Given the description of an element on the screen output the (x, y) to click on. 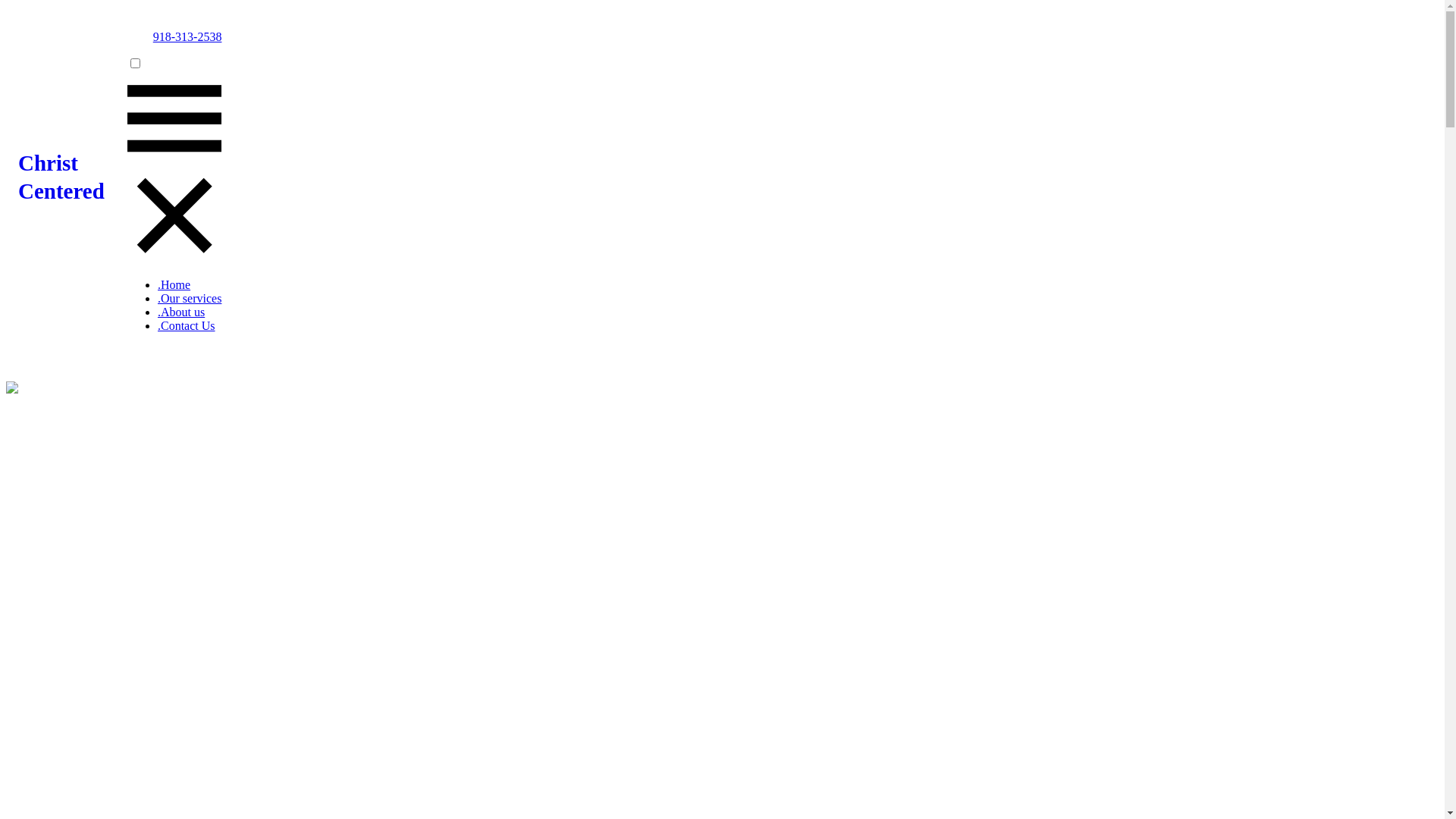
.Contact Us Element type: text (186, 325)
.About us Element type: text (180, 311)
.Home Element type: text (173, 284)
Christ
Centered Element type: text (72, 224)
.Our services Element type: text (189, 297)
918-313-2538 Element type: text (187, 36)
